Given the description of an element on the screen output the (x, y) to click on. 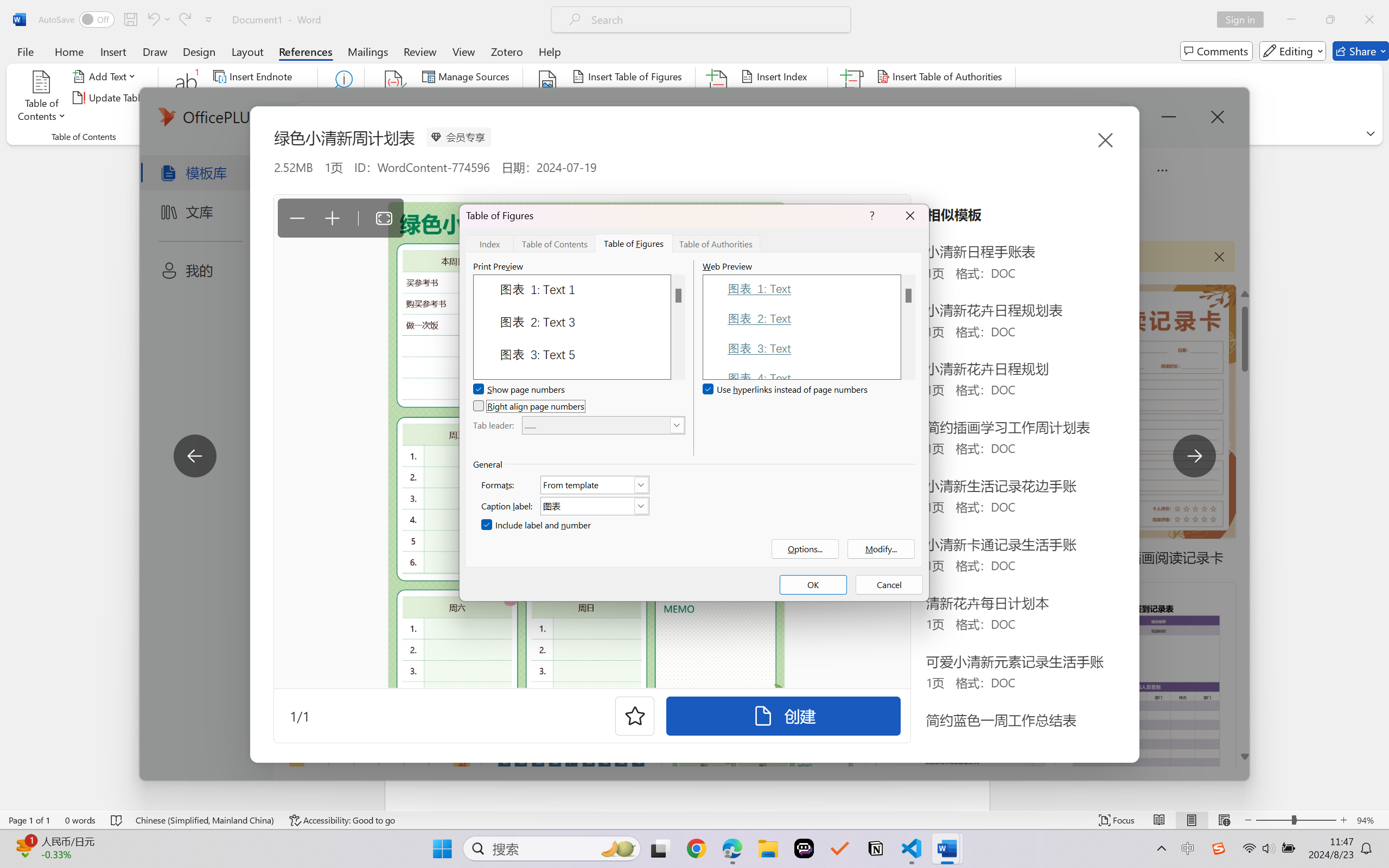
Next Footnote (253, 97)
Mark Citation... (852, 97)
Right align page numbers (529, 406)
Mark Entry... (718, 97)
Show page numbers (519, 389)
Table of Contents (554, 243)
